Given the description of an element on the screen output the (x, y) to click on. 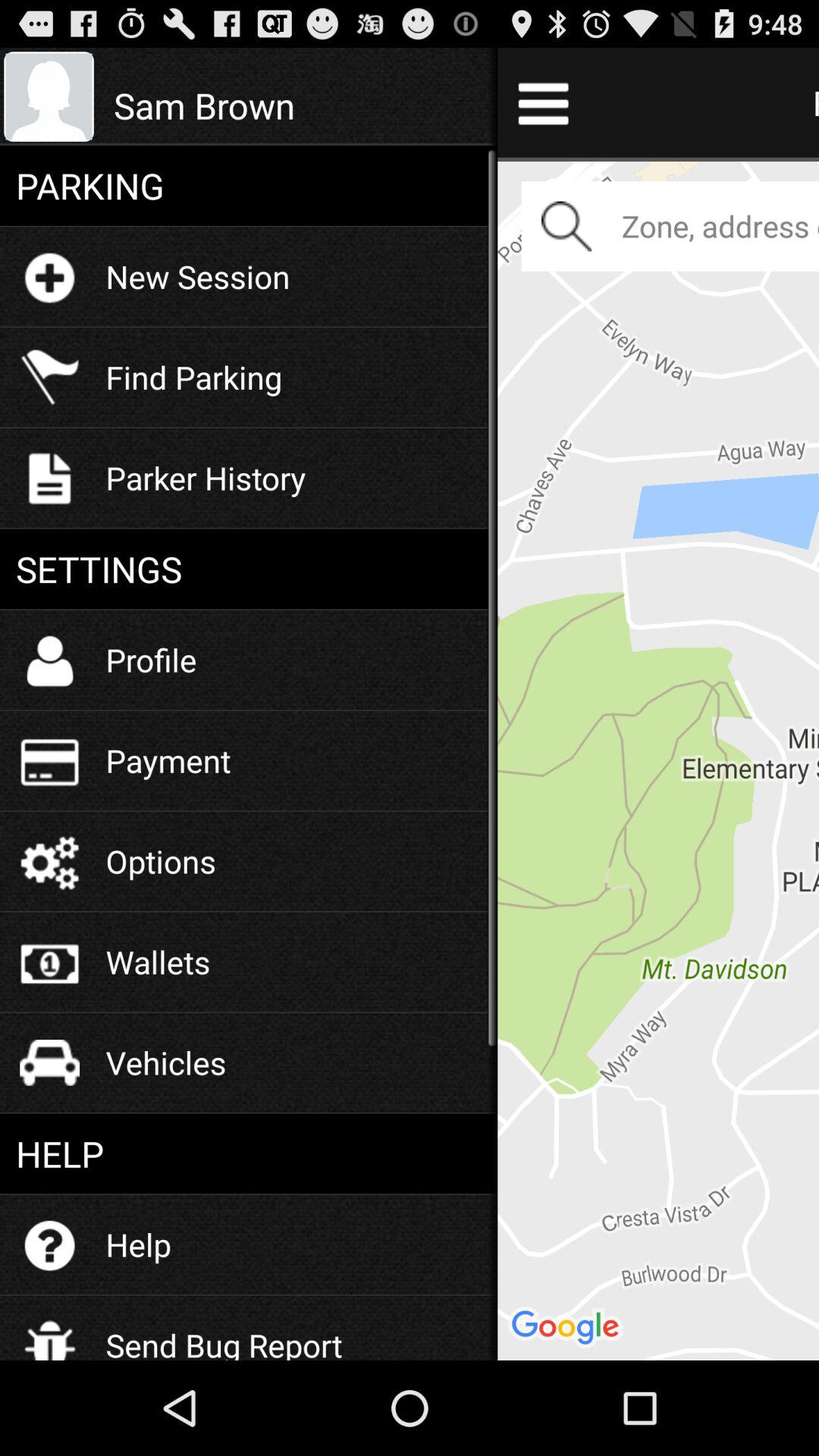
turn off settings icon (248, 568)
